Given the description of an element on the screen output the (x, y) to click on. 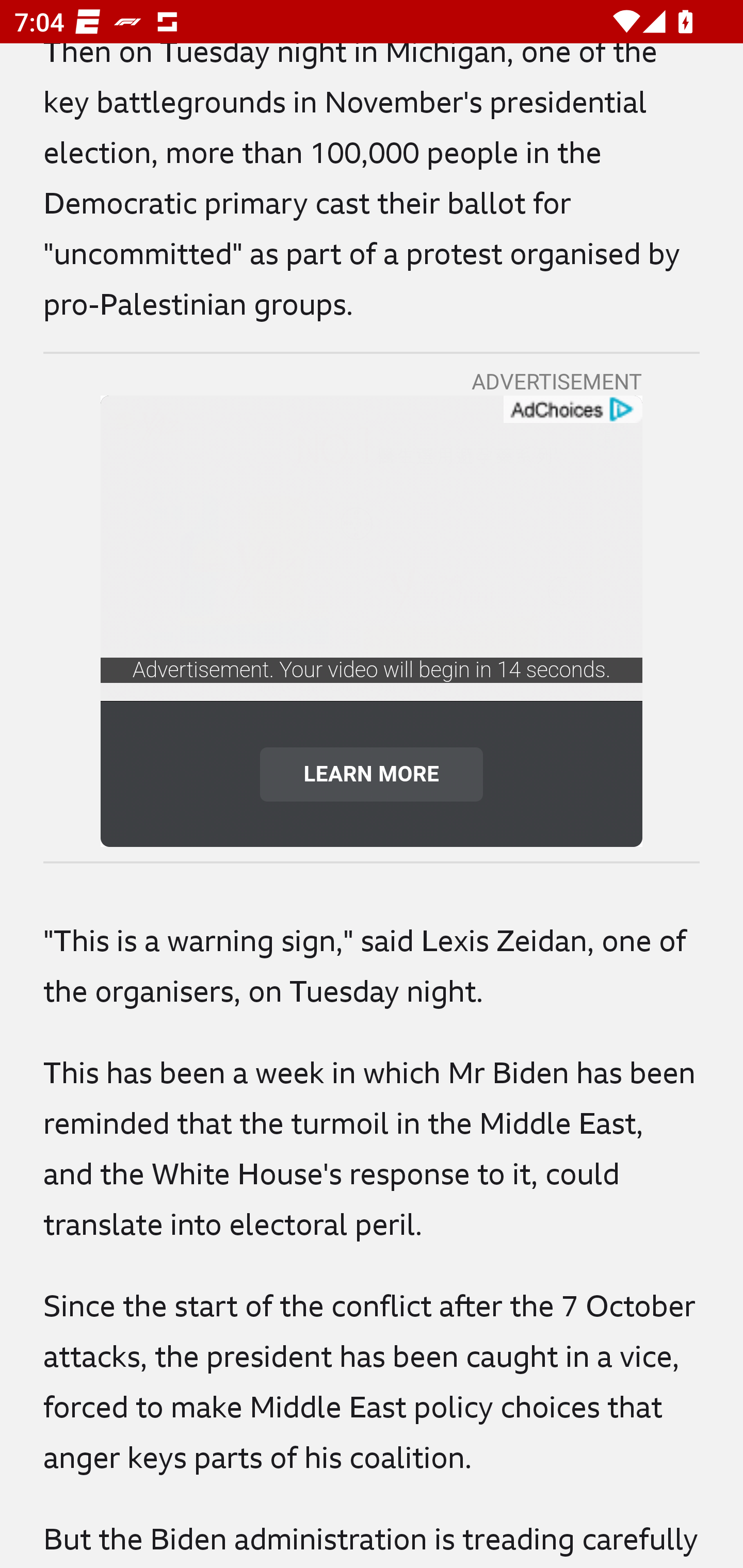
get?name=admarker-full-tl (571, 409)
LEARN MORE (371, 773)
